Given the description of an element on the screen output the (x, y) to click on. 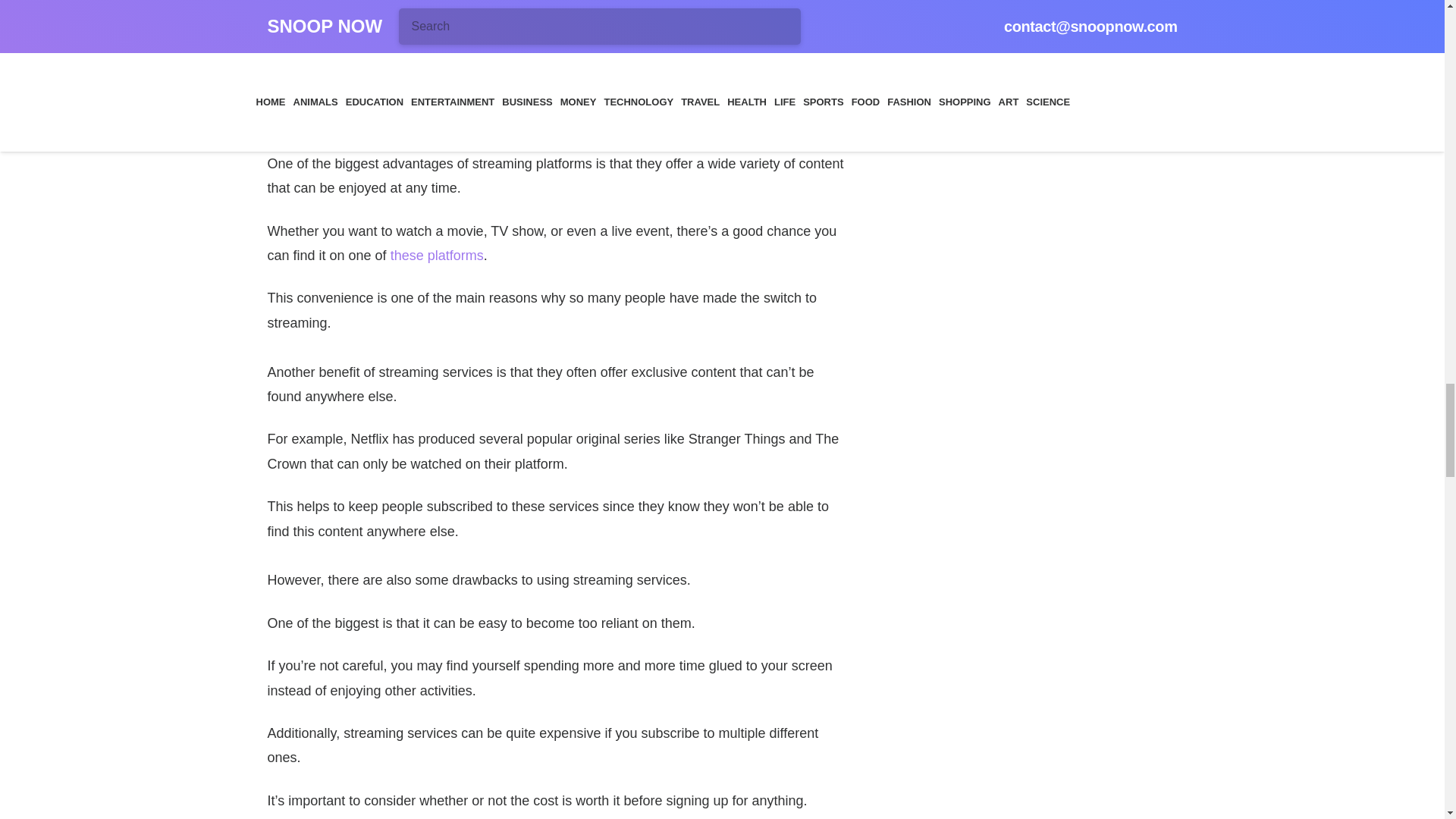
these platforms (436, 255)
